Given the description of an element on the screen output the (x, y) to click on. 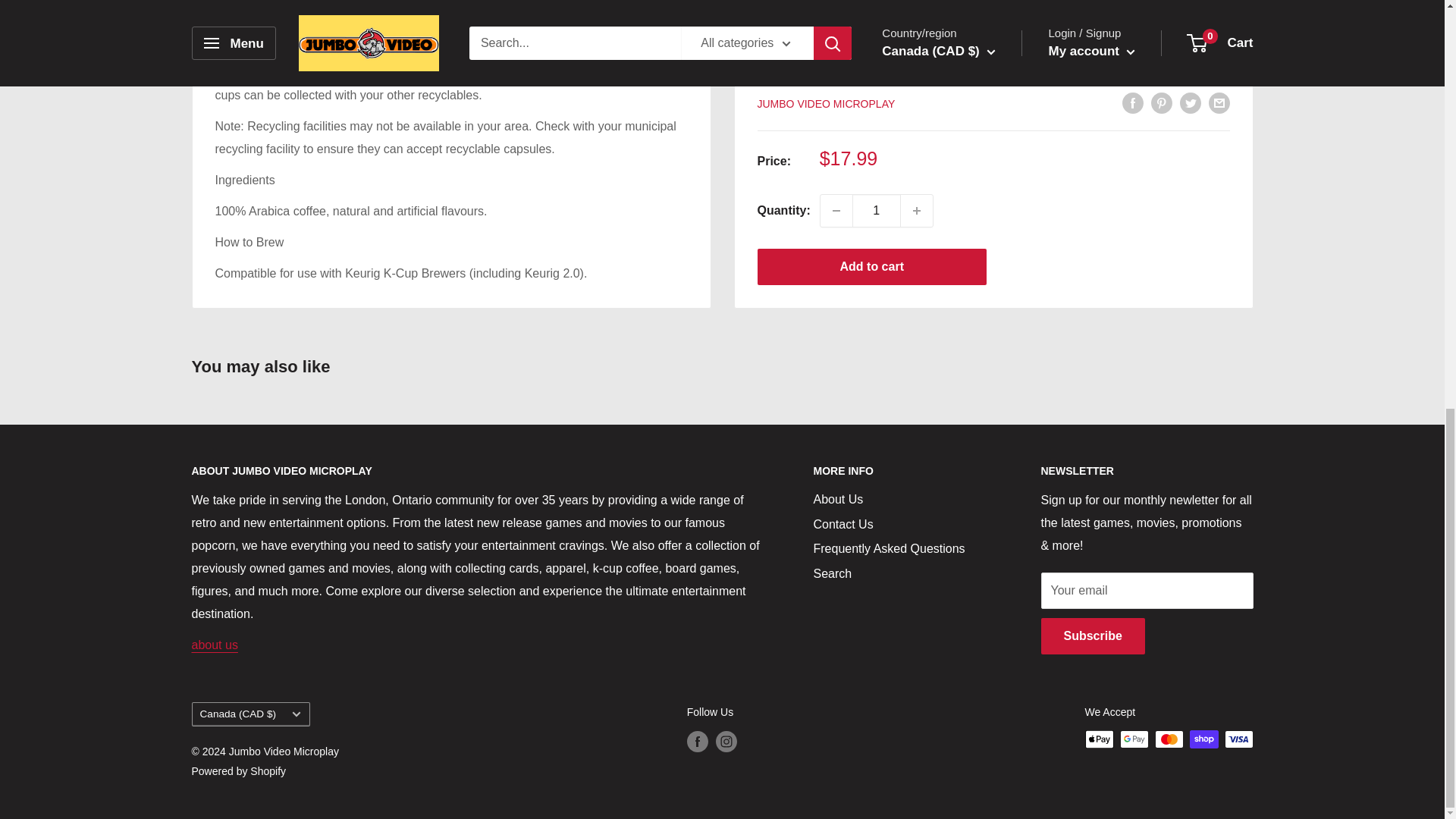
About Us (213, 644)
